Given the description of an element on the screen output the (x, y) to click on. 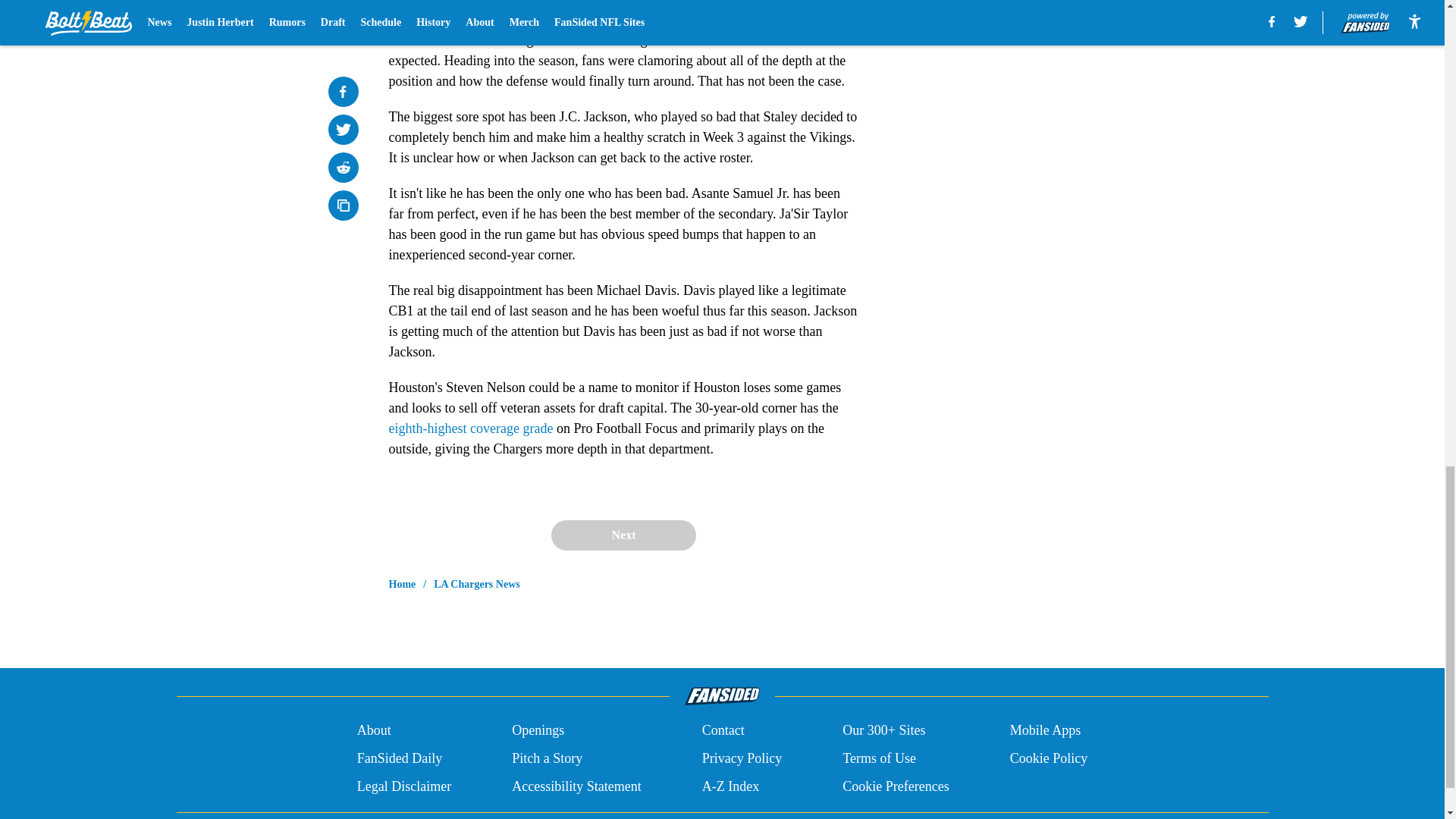
Next (622, 535)
About (373, 730)
Openings (538, 730)
Terms of Use (879, 758)
Contact (722, 730)
FanSided Daily (399, 758)
eighth-highest coverage grade (470, 412)
Mobile Apps (1045, 730)
Legal Disclaimer (403, 786)
Privacy Policy (742, 758)
